Given the description of an element on the screen output the (x, y) to click on. 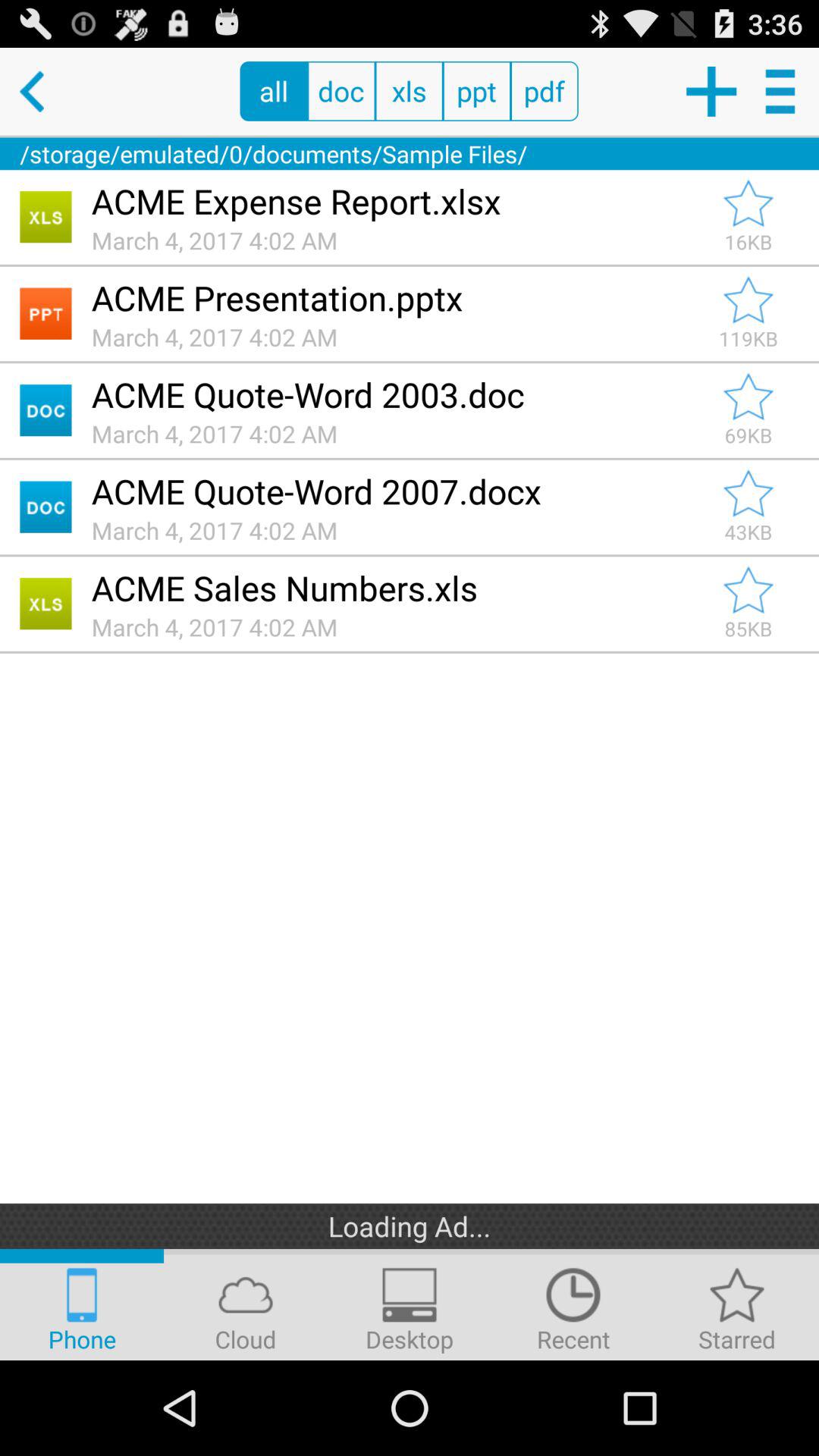
turn off item to the right of the ppt (544, 91)
